Given the description of an element on the screen output the (x, y) to click on. 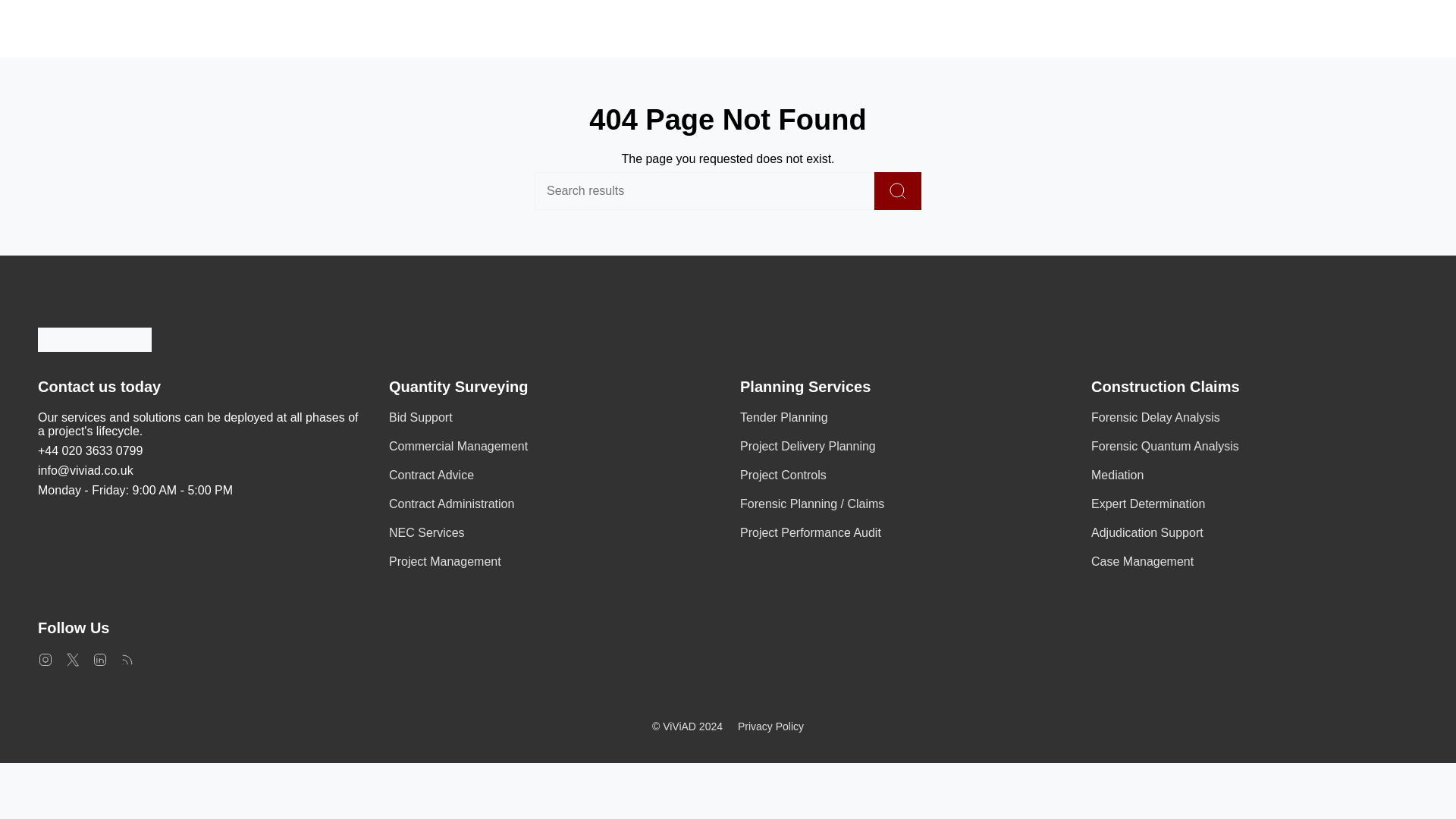
ViViAD on Linkedin (100, 658)
ViViAD on Twitter (72, 658)
ViViAD on Instagram (44, 658)
ViViAD on Feed (127, 658)
